Given the description of an element on the screen output the (x, y) to click on. 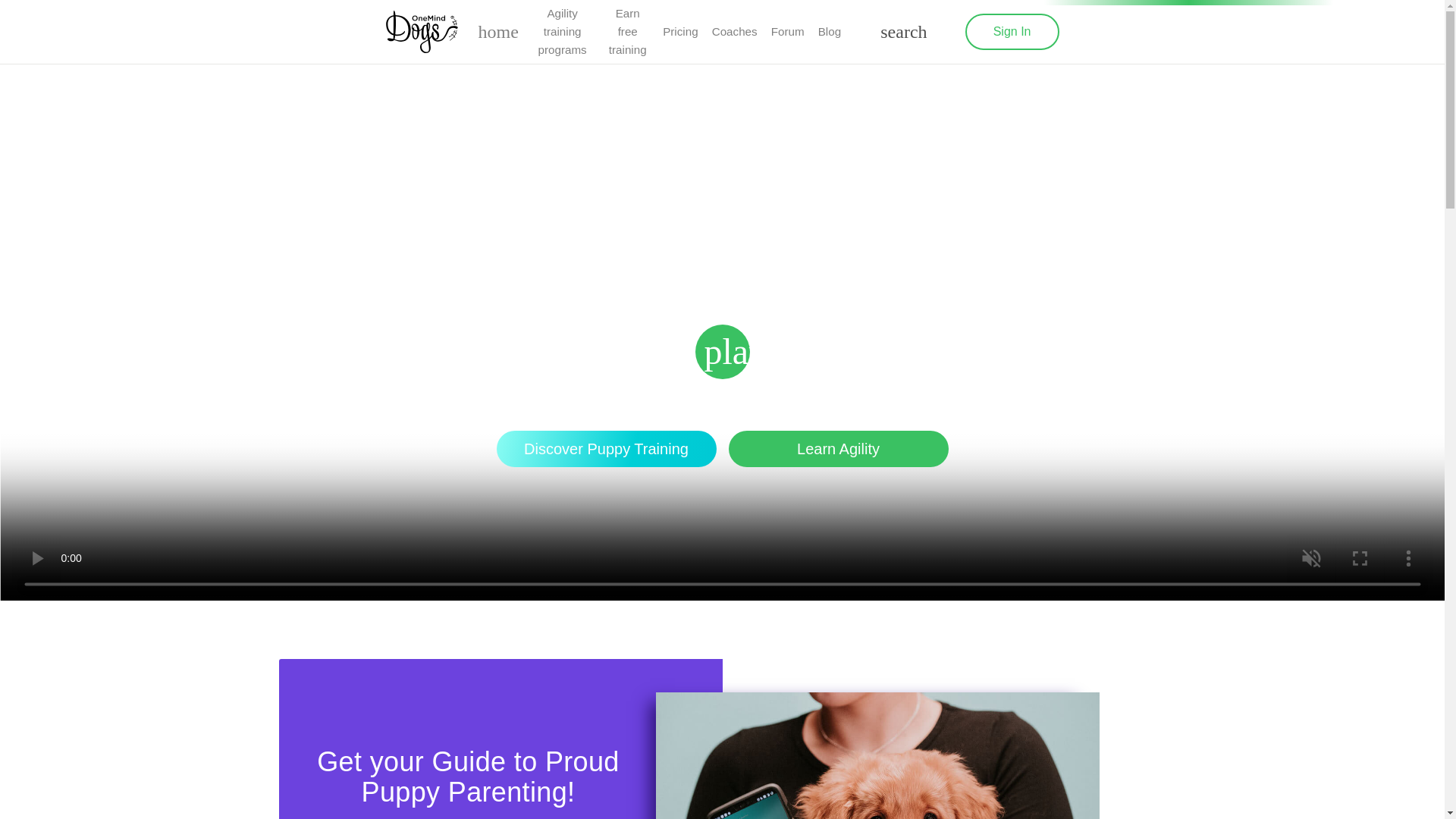
home (498, 31)
Home (498, 31)
Sign In (1012, 31)
Blog (829, 31)
Sign In (1012, 31)
Agility training programs (562, 31)
Learn Agility (837, 448)
Blog (829, 31)
Discover Puppy Training (606, 448)
Discover Puppy Training (606, 448)
